Given the description of an element on the screen output the (x, y) to click on. 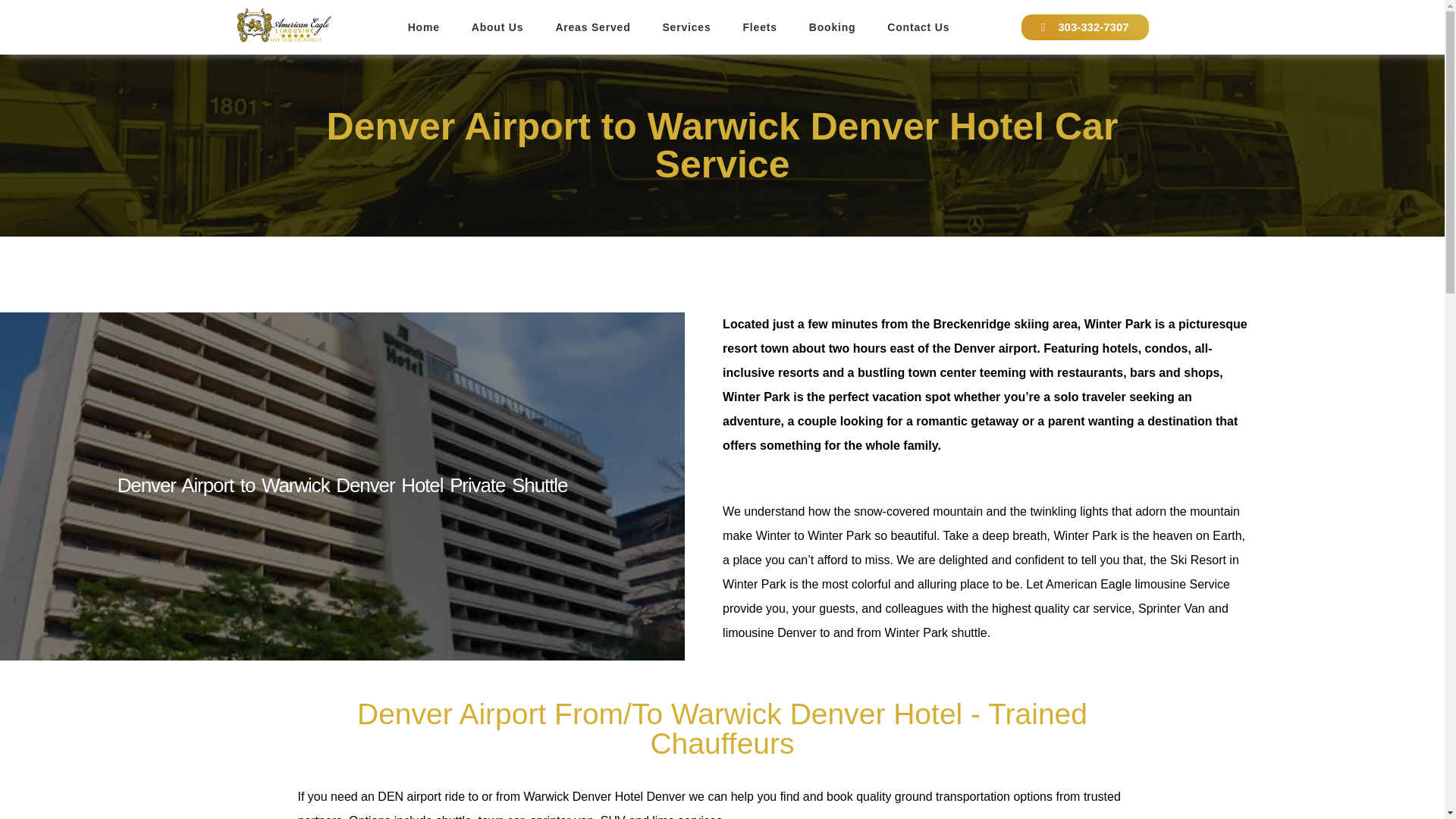
Services (686, 27)
Booking (832, 27)
303-332-7307 (1085, 27)
Fleets (759, 27)
Home (423, 27)
About Us (497, 27)
Contact Us (917, 27)
Areas Served (592, 27)
